Given the description of an element on the screen output the (x, y) to click on. 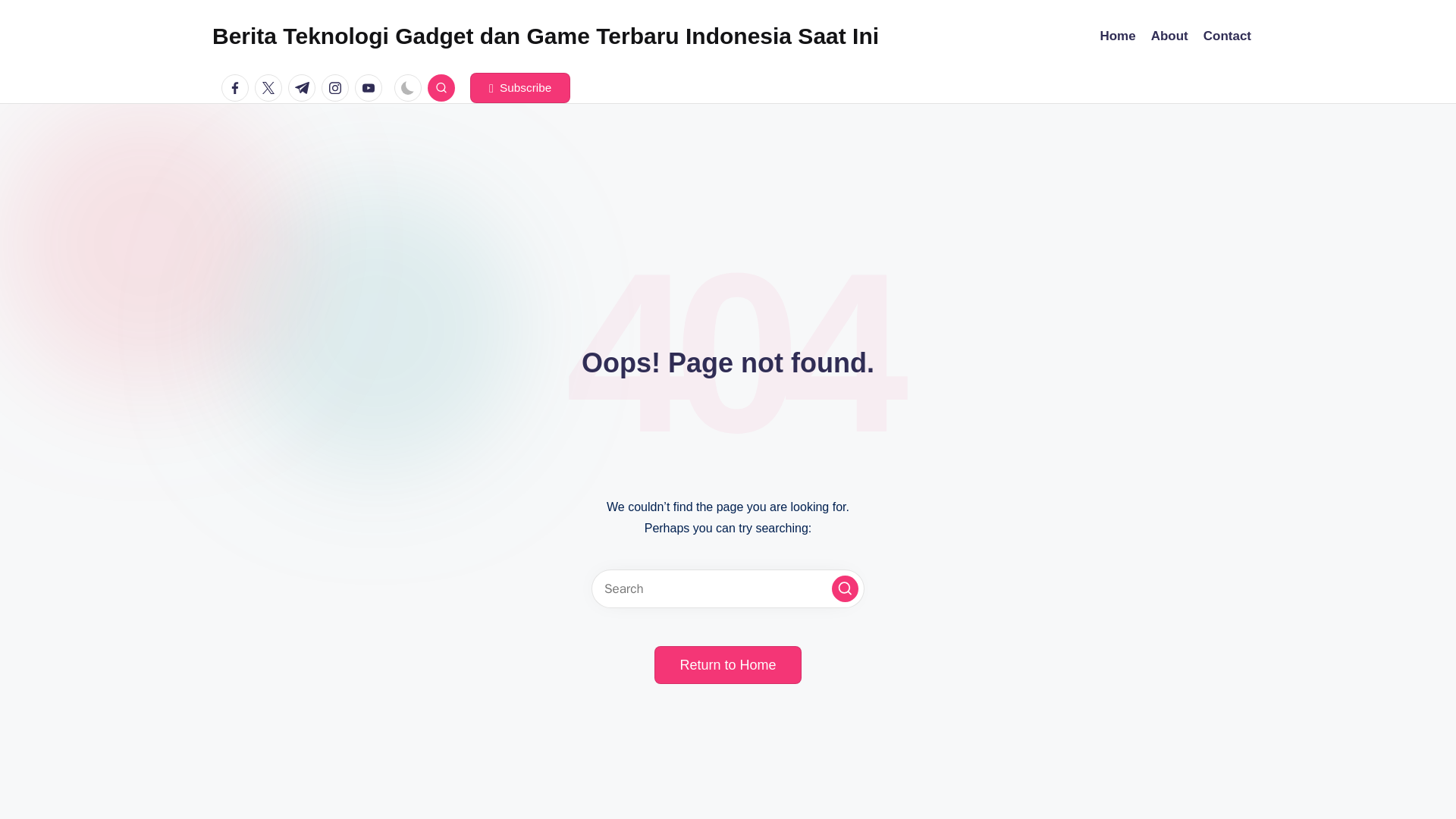
About (1169, 36)
t.me (304, 87)
Return to Home (726, 664)
Home (1117, 36)
facebook.com (237, 87)
Contact (1227, 36)
twitter.com (271, 87)
Berita Teknologi Gadget dan Game Terbaru Indonesia Saat Ini (545, 36)
Subscribe (520, 87)
instagram.com (338, 87)
